Given the description of an element on the screen output the (x, y) to click on. 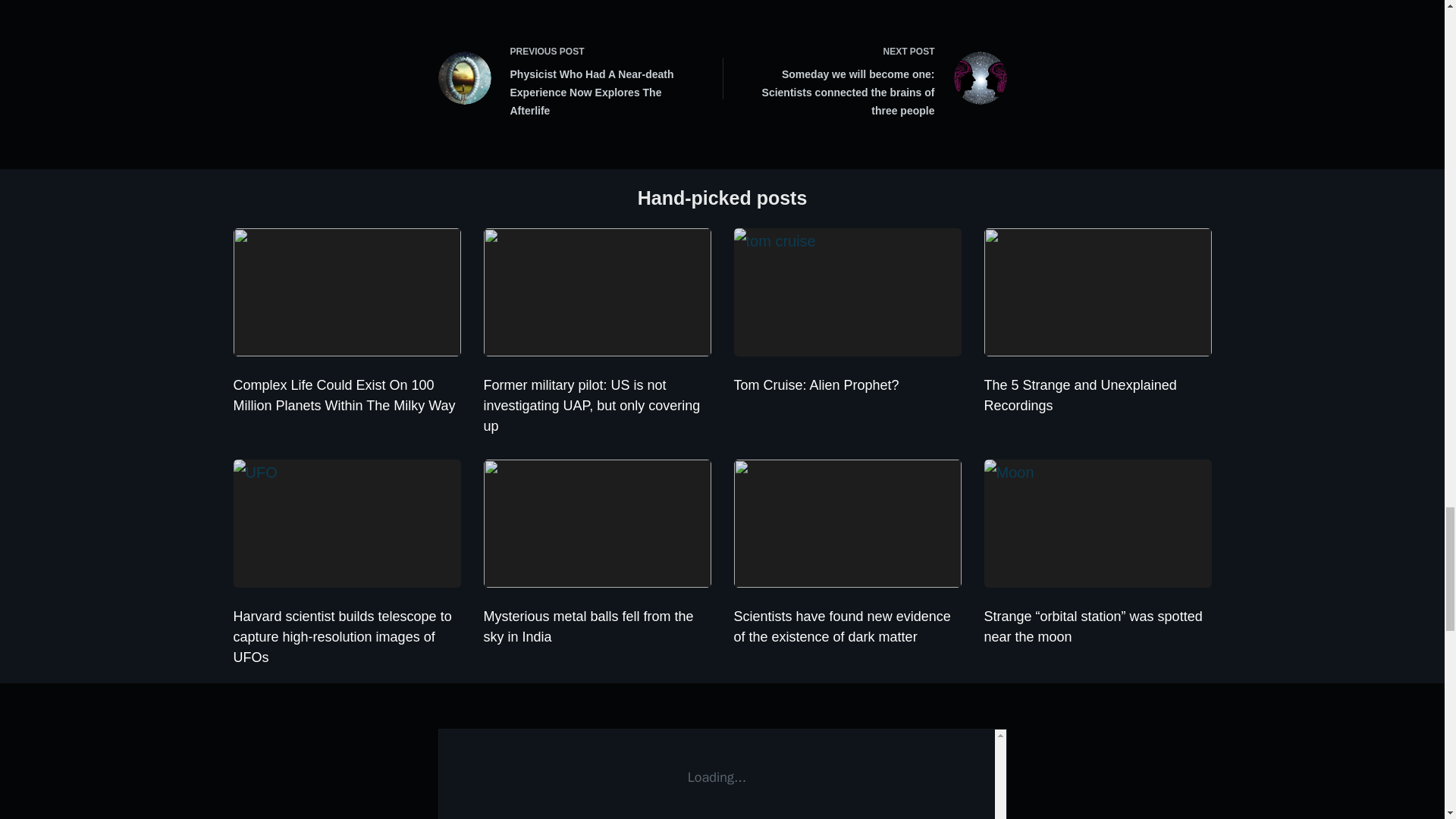
Comments (722, 773)
